Given the description of an element on the screen output the (x, y) to click on. 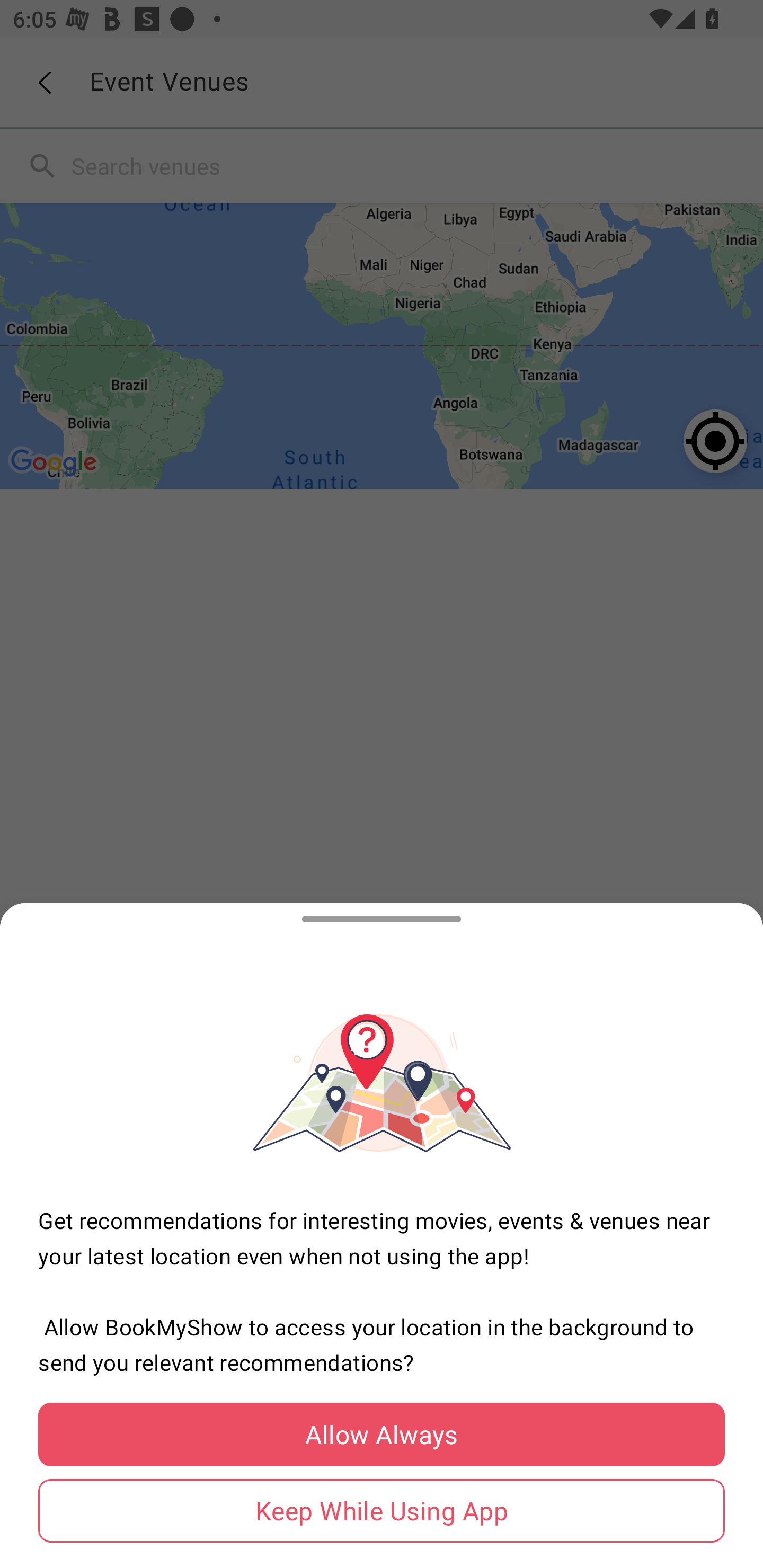
Allow Always (381, 1434)
Keep While Using App (381, 1510)
